Given the description of an element on the screen output the (x, y) to click on. 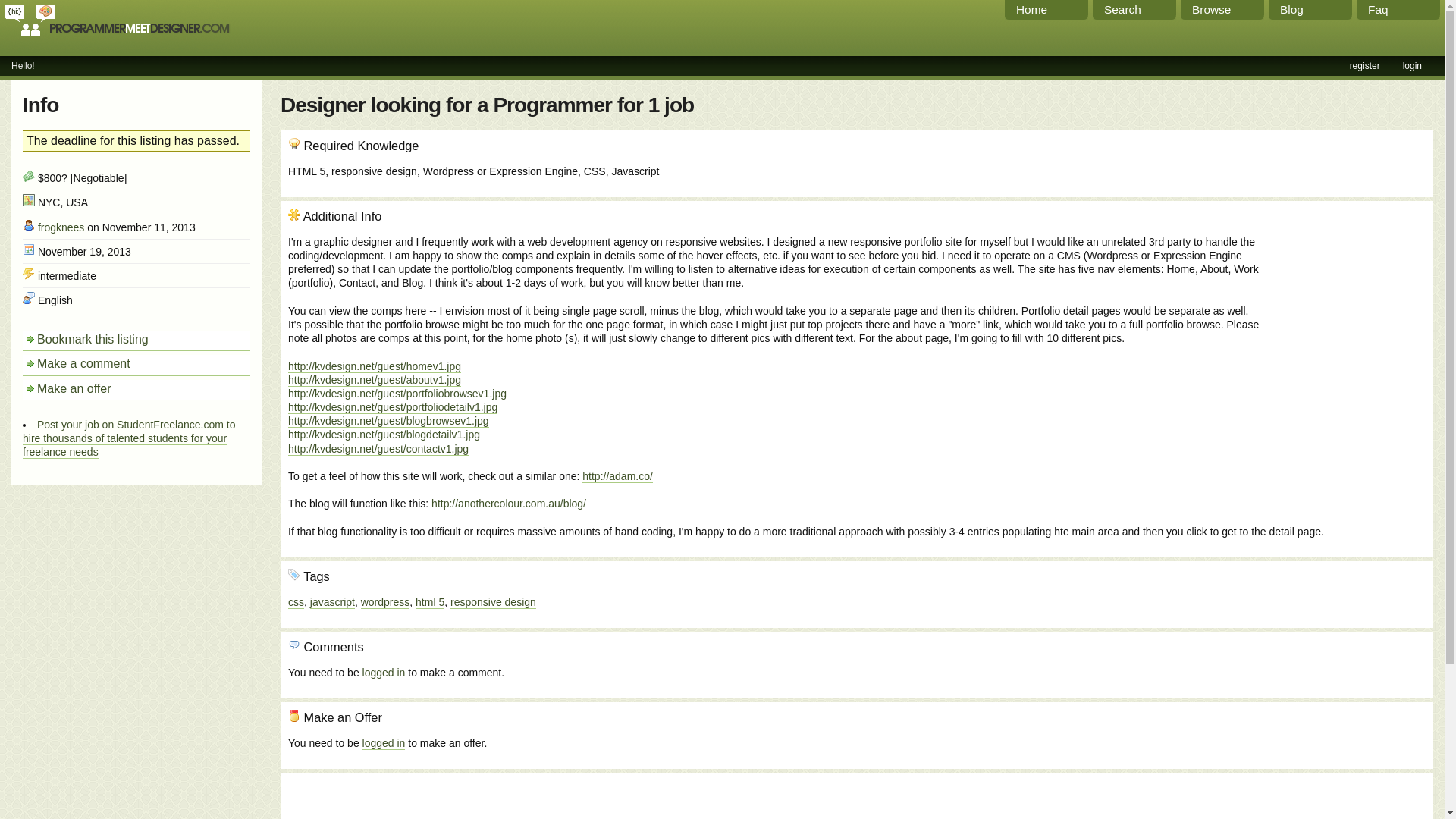
login (1411, 65)
wordpress (385, 602)
Make an offer (136, 390)
Price (28, 175)
Search (1134, 9)
Home (1045, 9)
Make a comment (136, 364)
Browse (1221, 9)
frogknees (60, 227)
Location (28, 200)
